Given the description of an element on the screen output the (x, y) to click on. 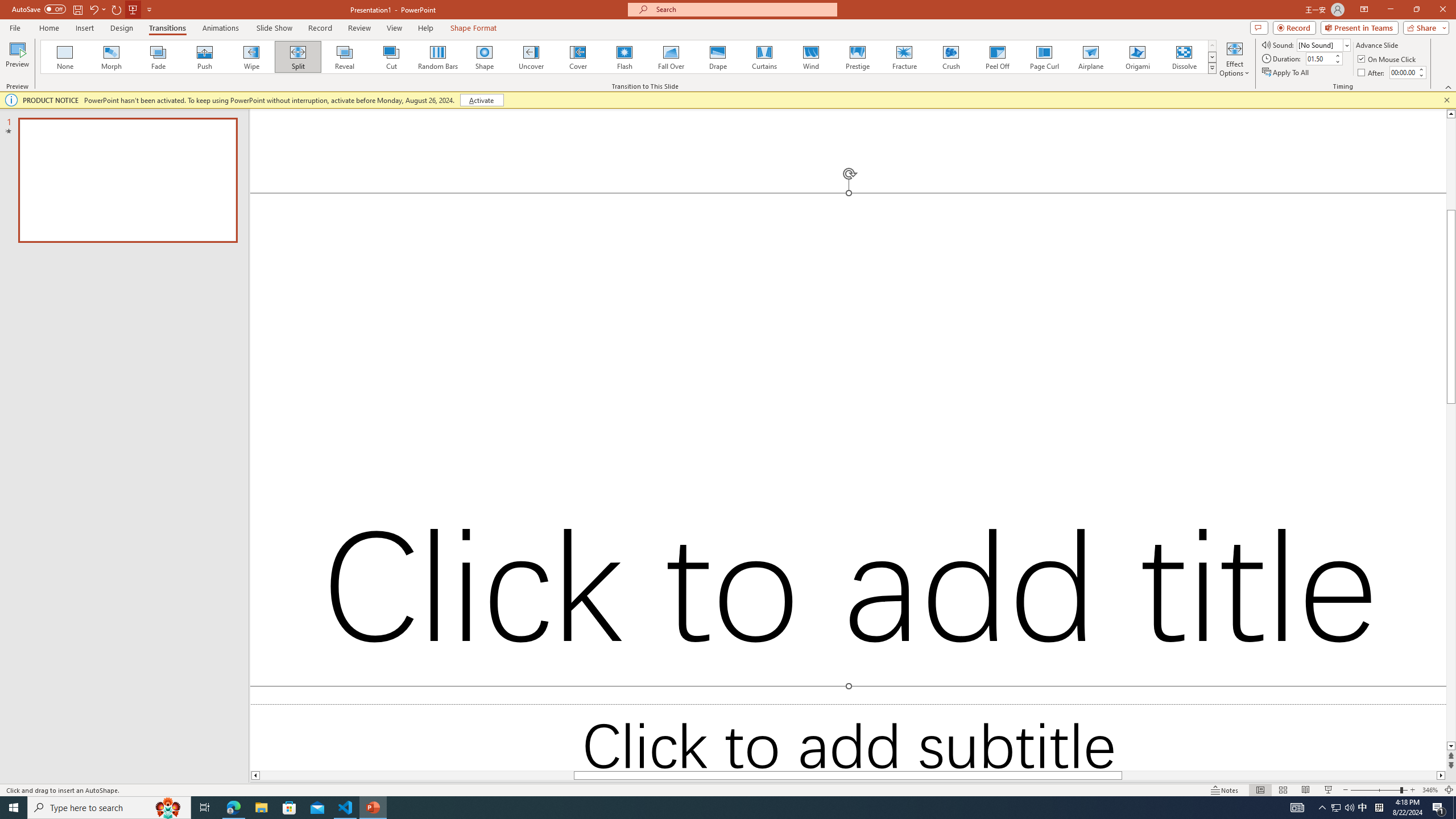
Styles (1025, 107)
Class: NetUIScrollBar (1278, 461)
Select (1080, 112)
Quote (1369, 446)
Can't Repeat (193, 18)
Asian Layout (568, 77)
No Spacing (1369, 283)
Multilevel List (483, 77)
